Given the description of an element on the screen output the (x, y) to click on. 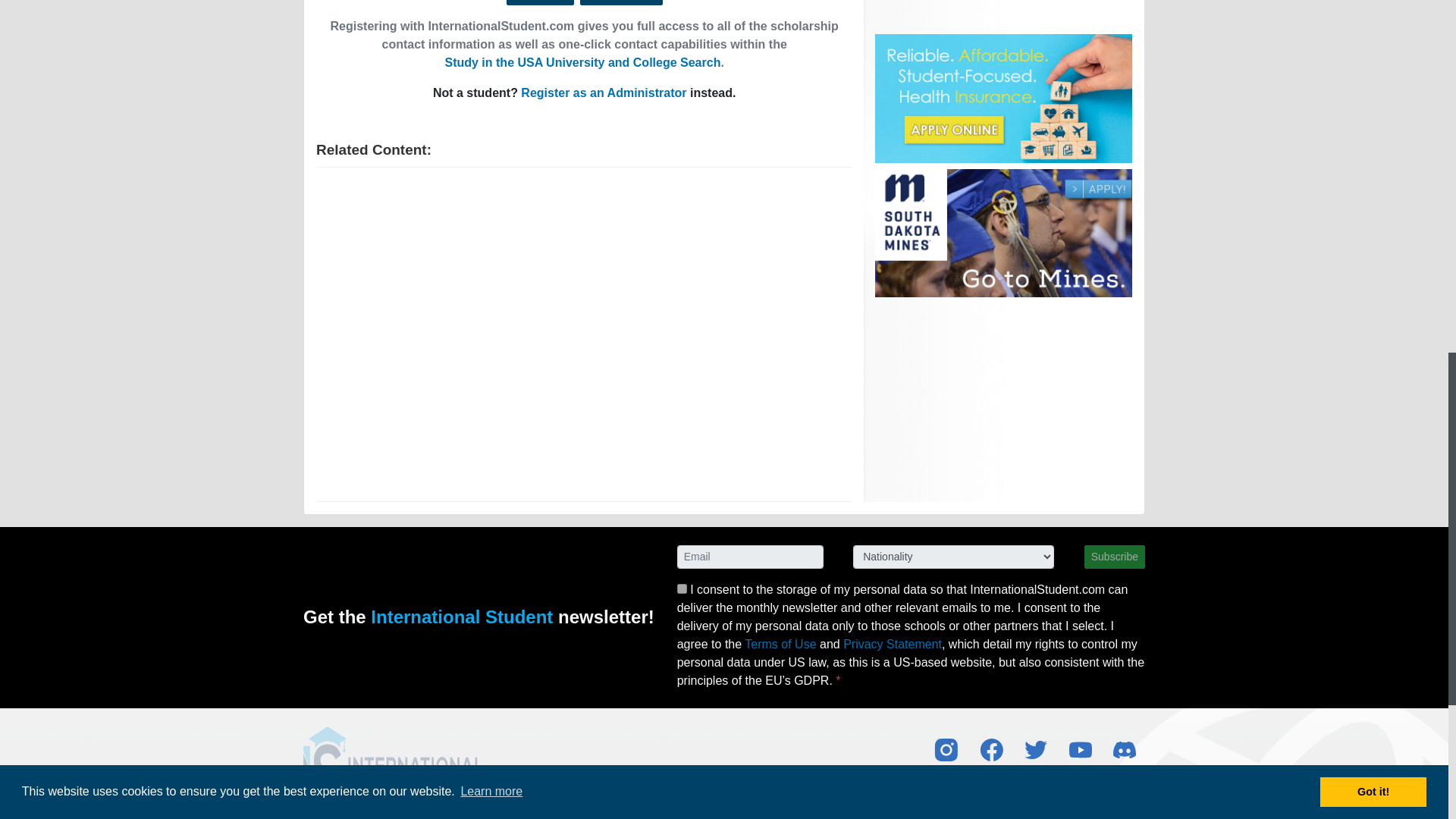
Advertisement (1003, 11)
1 (682, 588)
